Given the description of an element on the screen output the (x, y) to click on. 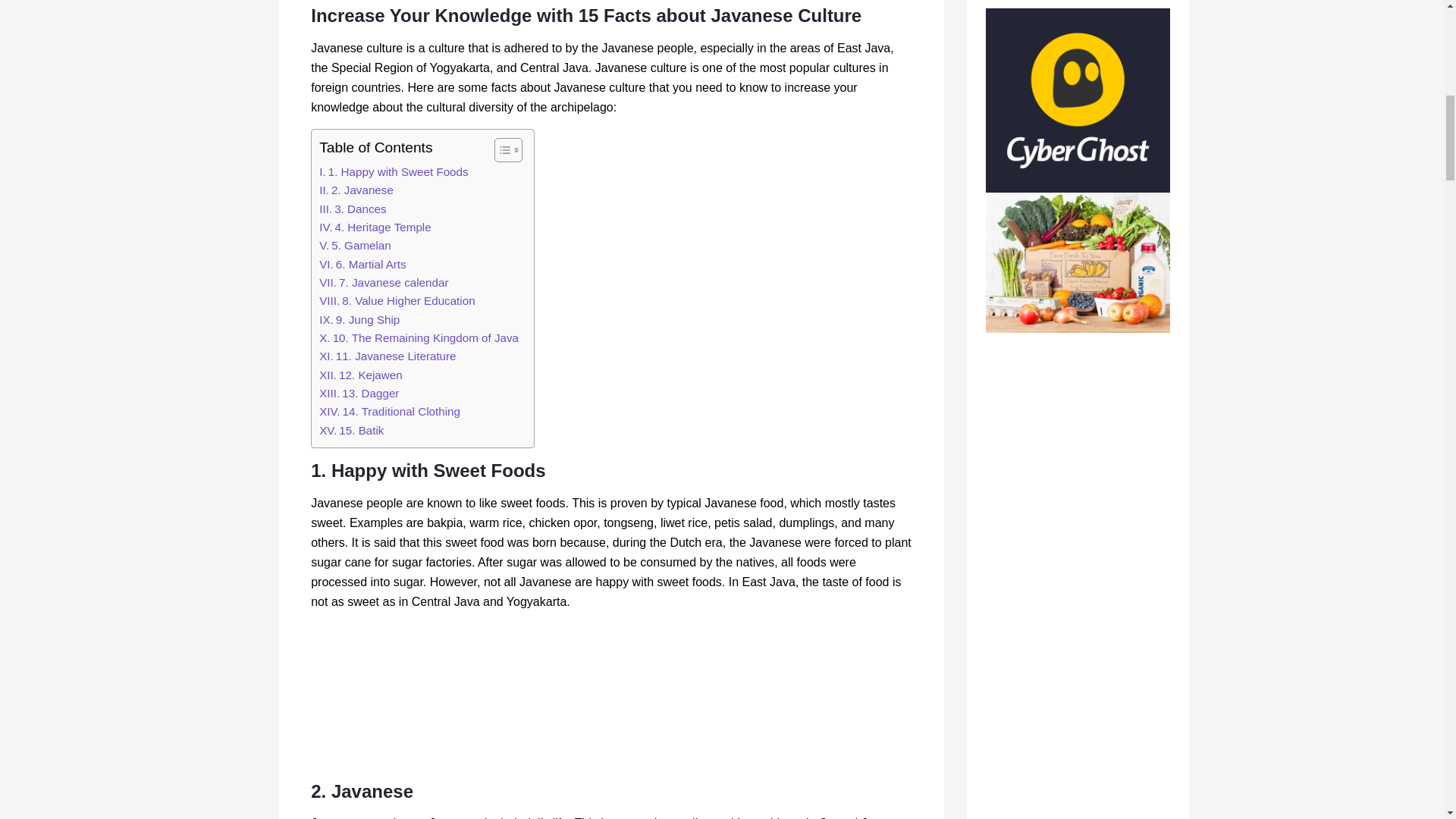
3. Dances (351, 208)
5. Gamelan (354, 245)
10. The Remaining Kingdom of Java (418, 338)
13. Dagger (358, 393)
1. Happy with Sweet Foods (392, 171)
13. Dagger (358, 393)
2. Javanese (355, 189)
11. Javanese Literature (386, 356)
11. Javanese Literature (386, 356)
5. Gamelan (354, 245)
9. Jung Ship (358, 320)
7. Javanese calendar (383, 282)
3. Dances (351, 208)
14. Traditional Clothing (389, 411)
4. Heritage Temple (374, 227)
